Given the description of an element on the screen output the (x, y) to click on. 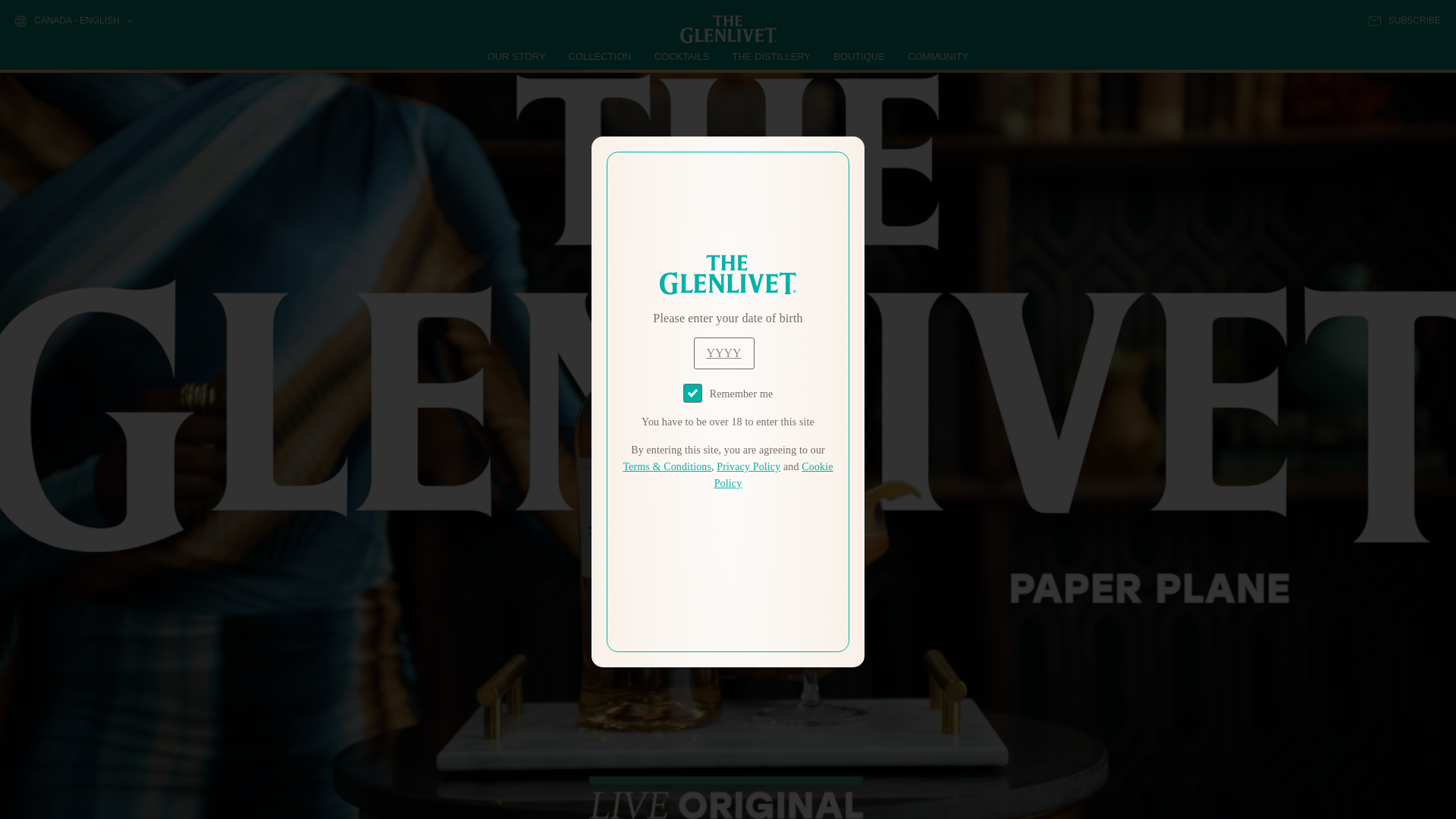
Privacy Policy (748, 466)
THE DISTILLERY (771, 56)
year (723, 353)
CANADA - ENGLISH (73, 21)
COCKTAILS (681, 56)
COMMUNITY (937, 56)
SUBSCRIBE (1404, 20)
Cookie Policy (773, 474)
OUR STORY (516, 56)
BOUTIQUE (858, 56)
COLLECTION (600, 56)
